Given the description of an element on the screen output the (x, y) to click on. 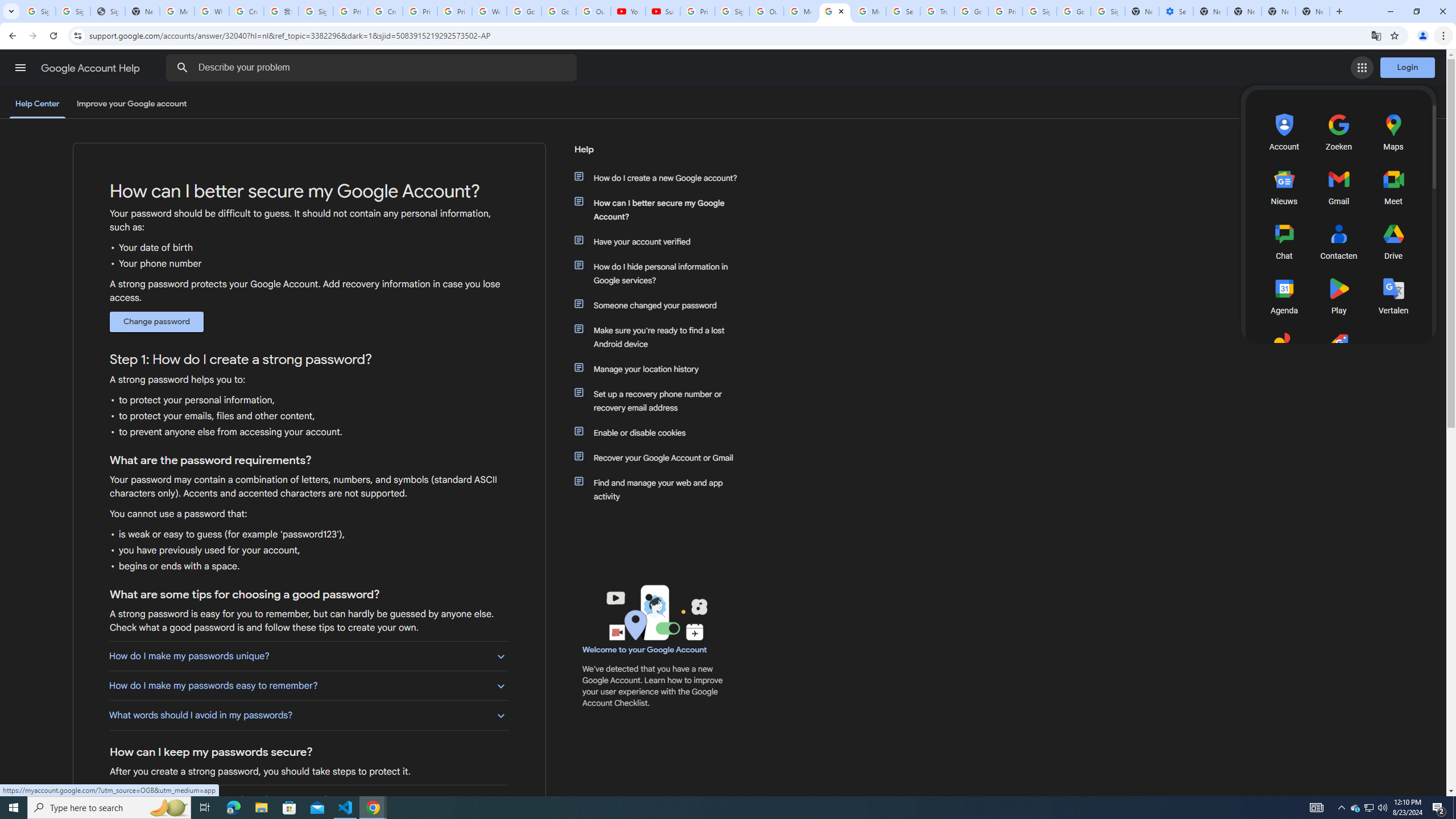
Sign in - Google Accounts (73, 11)
Welcome to My Activity (489, 11)
How do I make my passwords unique? (308, 655)
Sign in - Google Accounts (38, 11)
Have your account verified (661, 241)
Sign in - Google Accounts (315, 11)
